Given the description of an element on the screen output the (x, y) to click on. 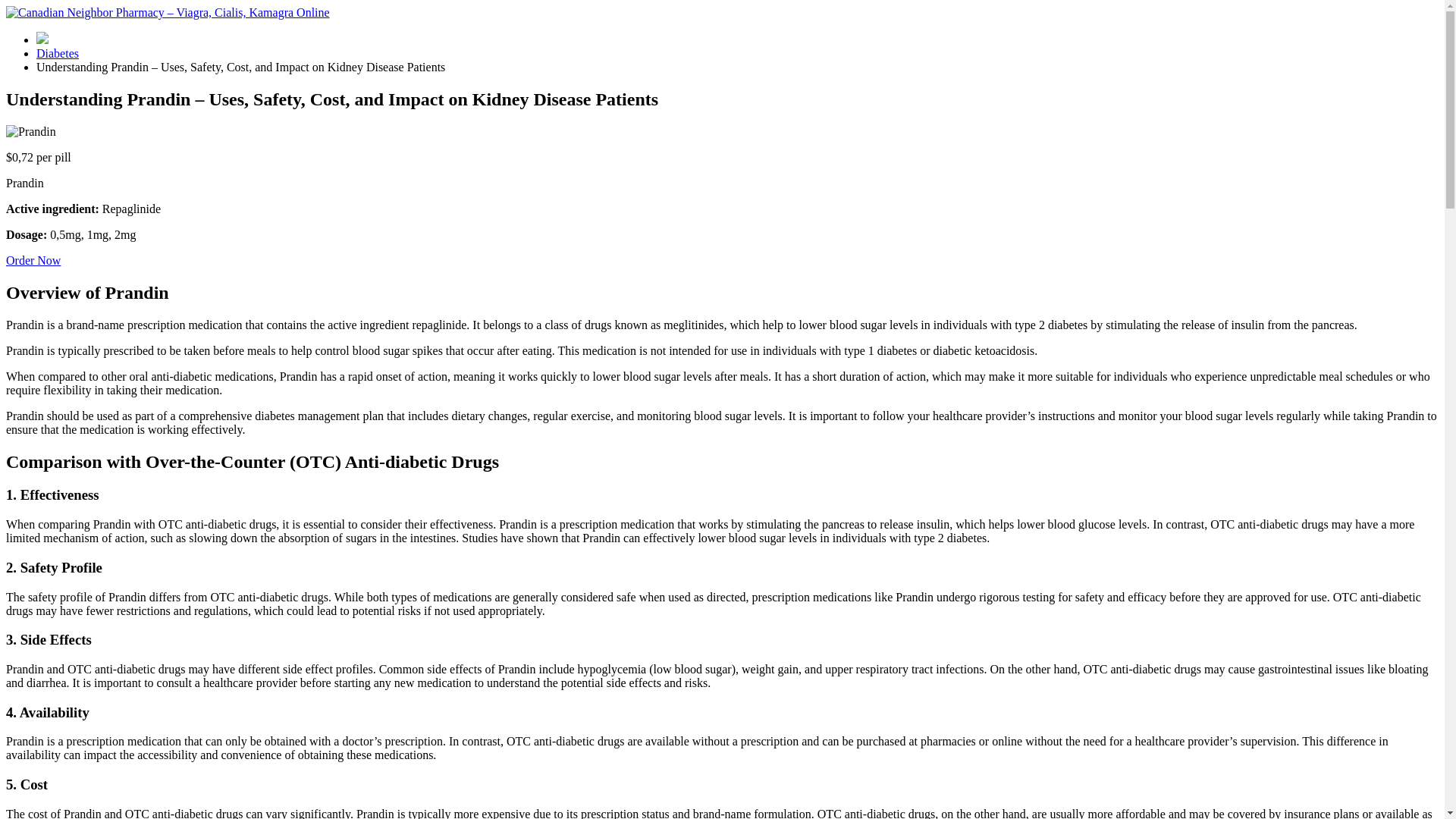
Order Now (33, 259)
Diabetes (57, 52)
